Given the description of an element on the screen output the (x, y) to click on. 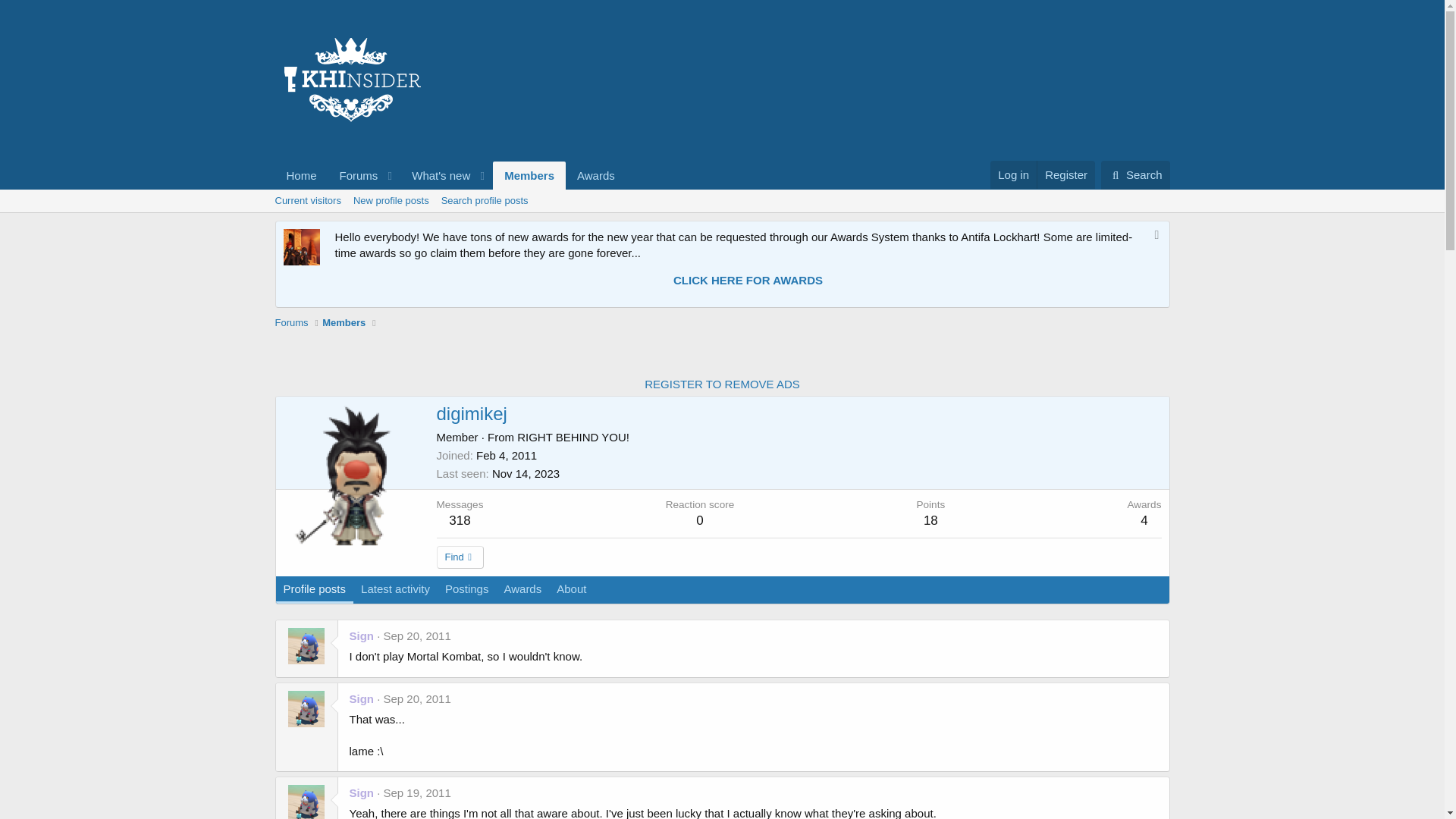
Log in (1013, 174)
Forums (291, 322)
Forums (354, 175)
Search (1135, 174)
Profile posts Latest activity Postings Awards About (435, 607)
Search (449, 175)
Nov 14, 2023 at 11:46 AM (720, 217)
Current visitors (1135, 174)
Sep 20, 2011 at 7:45 PM (525, 472)
CLICK HERE FOR AWARDS (306, 200)
Register (417, 635)
Home (747, 279)
RIGHT BEHIND YOU! (1065, 174)
